Given the description of an element on the screen output the (x, y) to click on. 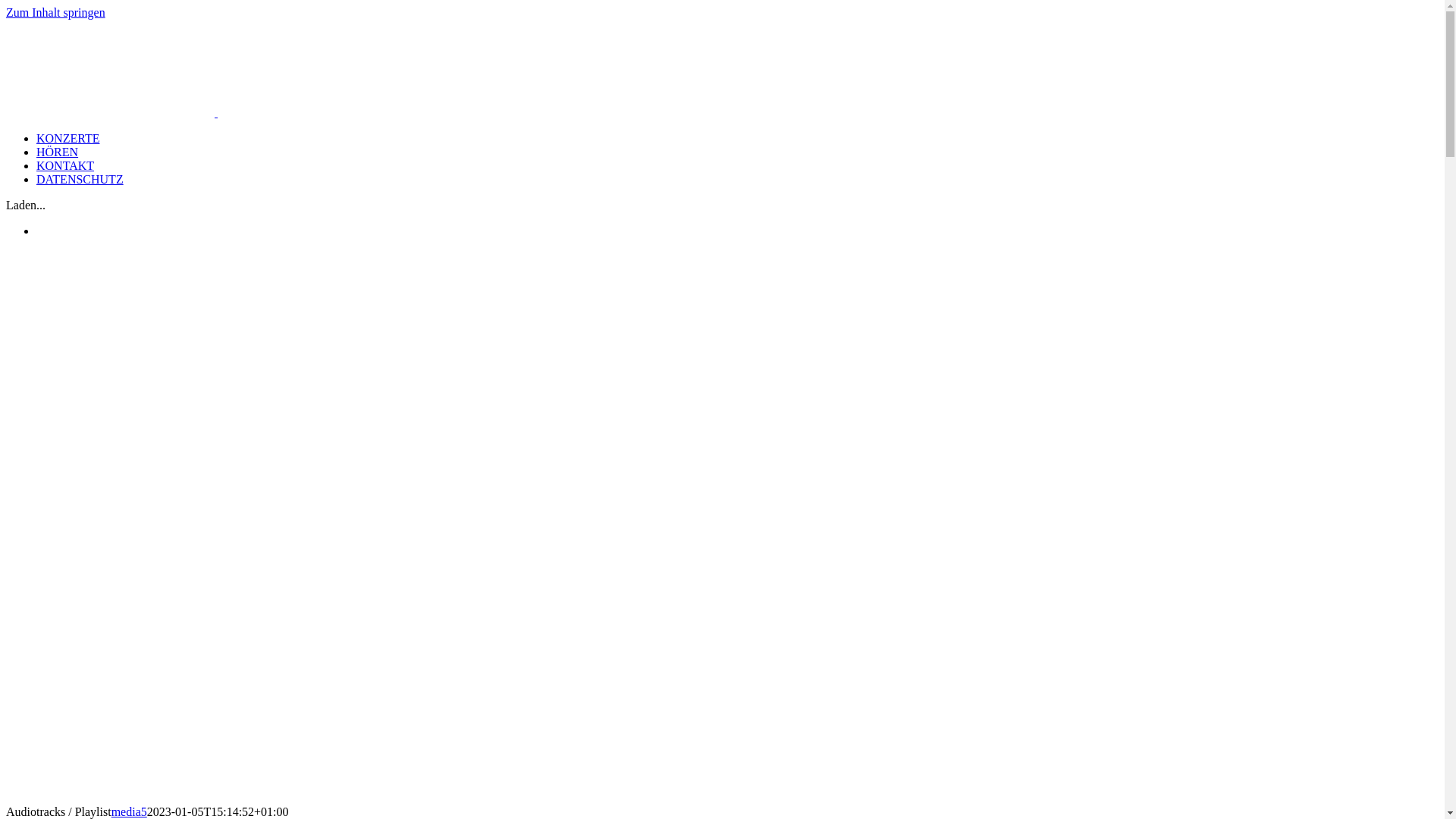
KONTAKT Element type: text (65, 165)
DATENSCHUTZ Element type: text (79, 178)
KONZERTE Element type: text (67, 137)
media5 Element type: text (129, 811)
Zum Inhalt springen Element type: text (55, 12)
